Given the description of an element on the screen output the (x, y) to click on. 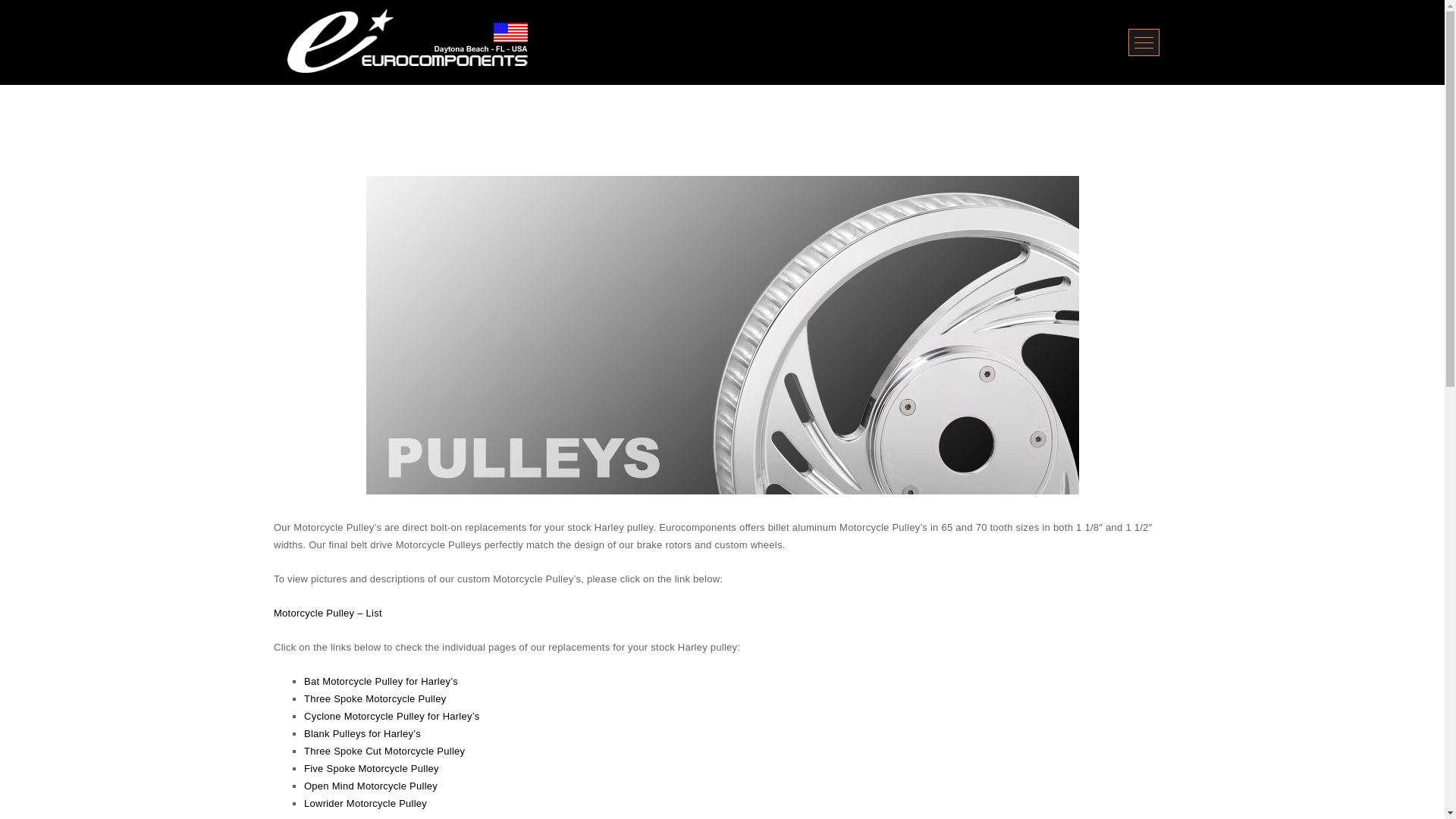
Permanent Link: Five Spoke Motorcycle Pulley (371, 767)
Permanent Link: Lowrider Motorcycle Pulley (365, 803)
Permanent Link: Three Spoke Cut Motorcycle Pulley (384, 750)
Permanent Link: Open Mind Motorcycle Pulley (371, 785)
